Given the description of an element on the screen output the (x, y) to click on. 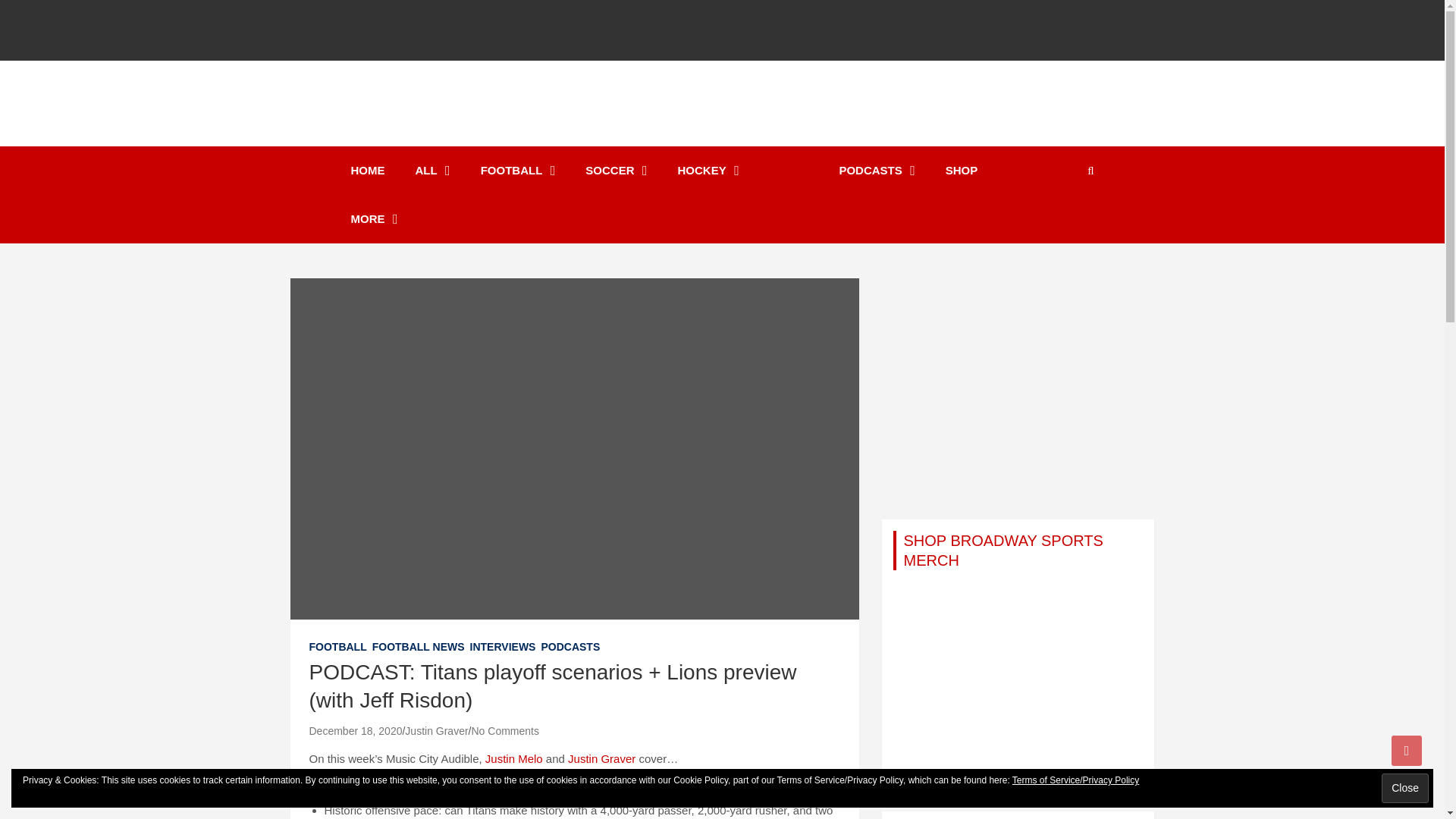
FOOTBALL (517, 170)
ALL (432, 170)
Go to Top (1406, 750)
HOME (366, 170)
Close (1404, 788)
